Given the description of an element on the screen output the (x, y) to click on. 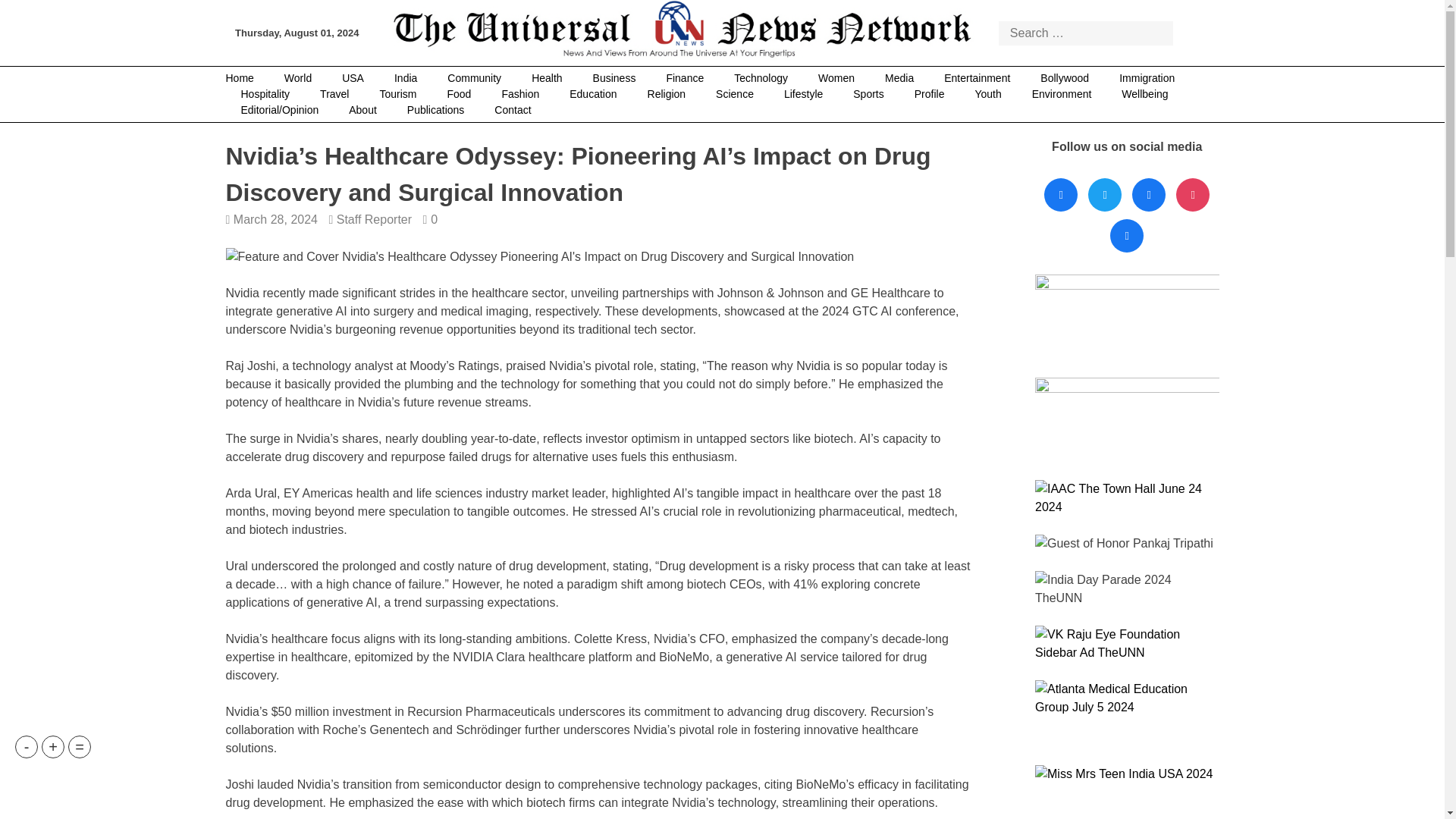
Search (1190, 32)
World (297, 78)
Health (546, 78)
Twitter (1104, 194)
Food (459, 94)
Community (474, 78)
Linkedin (1148, 194)
Travel (334, 94)
Science (734, 94)
Google news (1126, 235)
India (405, 78)
Business (614, 78)
Lifestyle (803, 94)
Staff Reporter (374, 219)
Religion (666, 94)
